Given the description of an element on the screen output the (x, y) to click on. 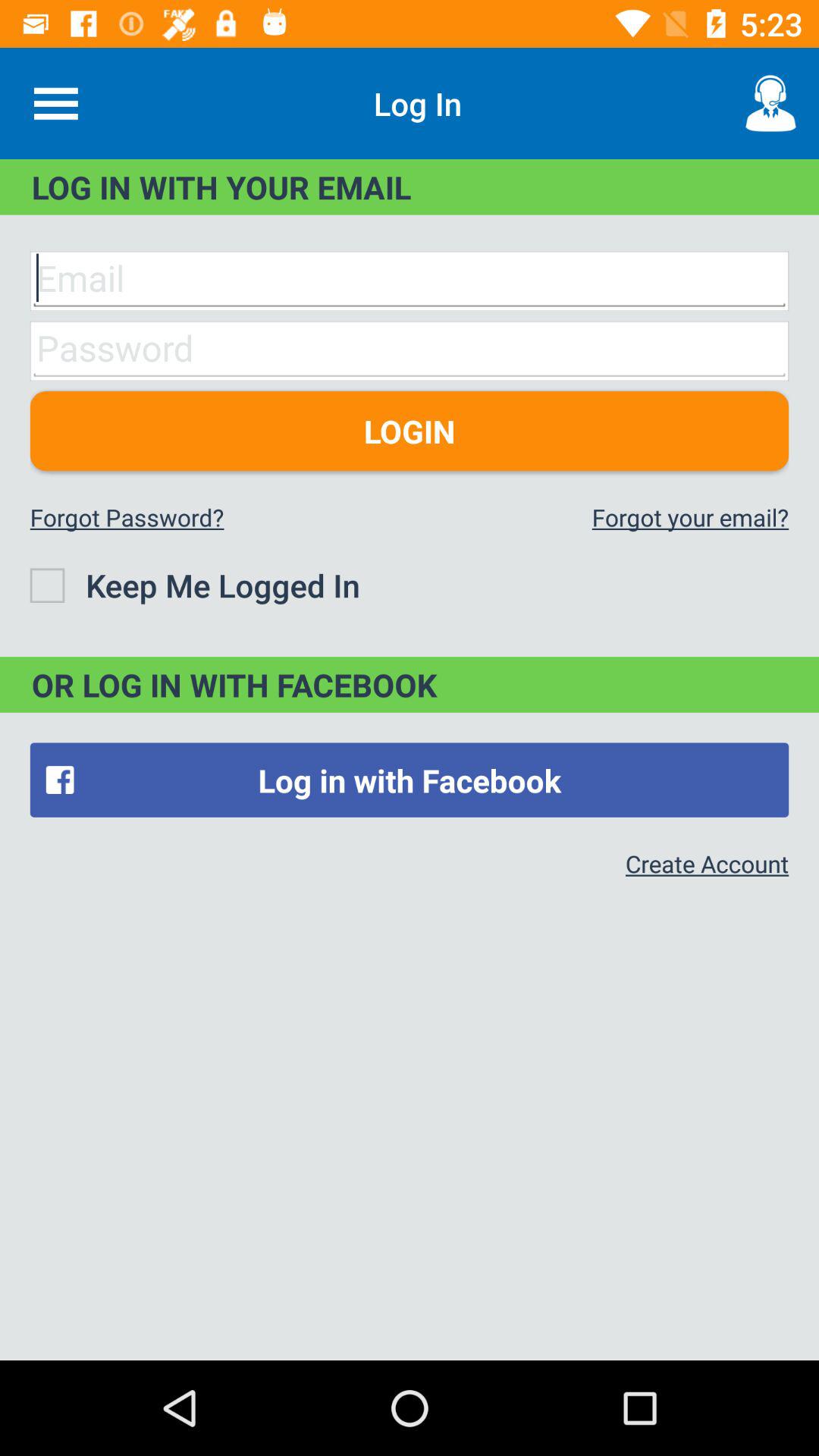
launch the icon below the forgot password? (195, 584)
